Given the description of an element on the screen output the (x, y) to click on. 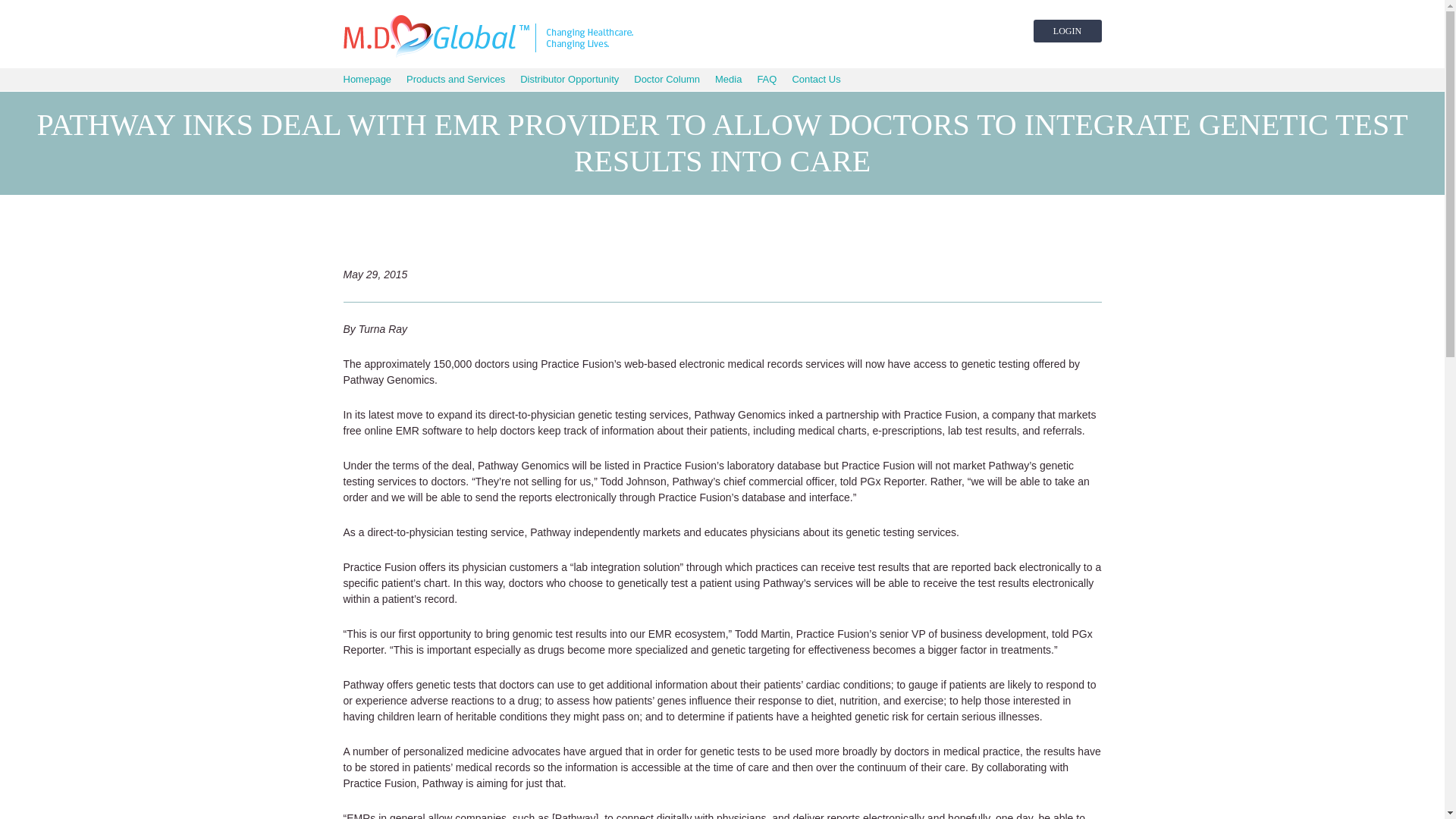
Media (727, 78)
FAQ (766, 78)
Distributor Opportunity (568, 78)
Products and Services (455, 78)
Doctor Column (666, 78)
Homepage (366, 78)
LOGIN (1066, 30)
Contact Us (816, 78)
